Given the description of an element on the screen output the (x, y) to click on. 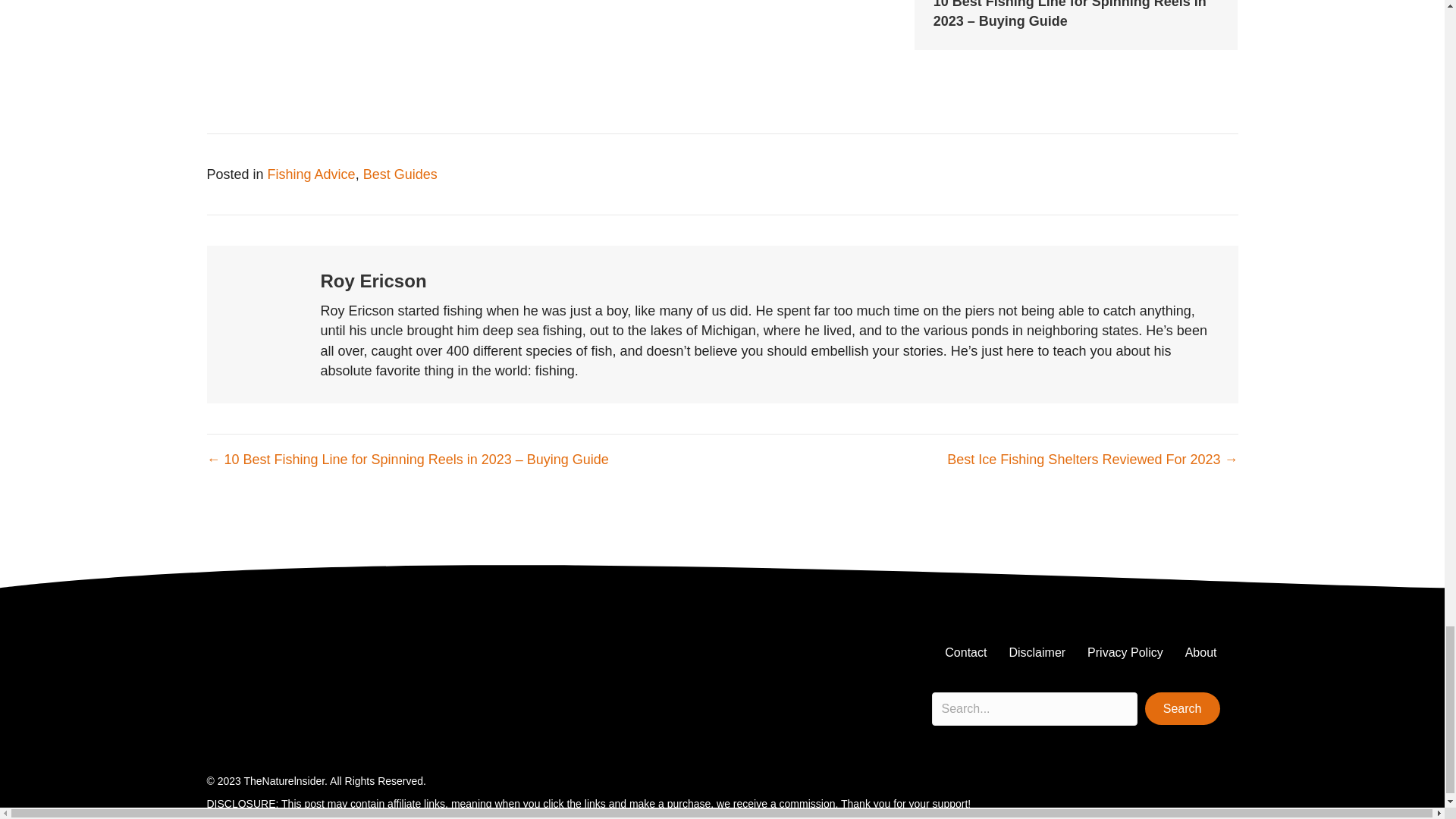
Fishing Advice (311, 174)
Disclaimer (1036, 652)
About (1200, 652)
Contact (965, 652)
Best Guides (400, 174)
The Nature Insider (263, 661)
Privacy Policy (1125, 652)
Search (1182, 708)
